Given the description of an element on the screen output the (x, y) to click on. 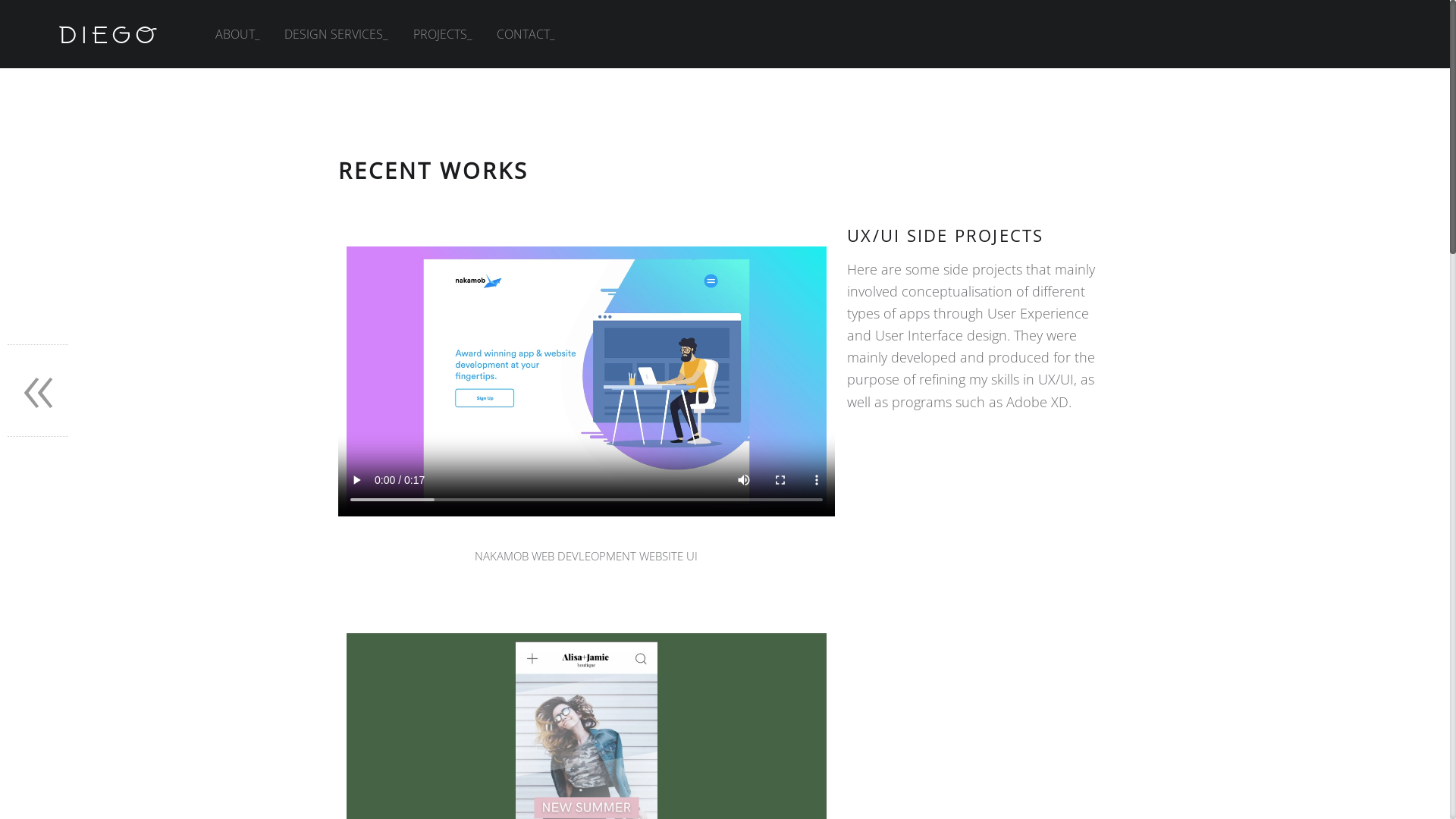
PROJECTS_ Element type: text (442, 34)
DESIGN SERVICES_ Element type: text (336, 34)
ABOUT_ Element type: text (237, 34)
Skip to content Element type: text (215, 0)
CONTACT_ Element type: text (525, 34)
DIEGO Element type: text (109, 34)
